Given the description of an element on the screen output the (x, y) to click on. 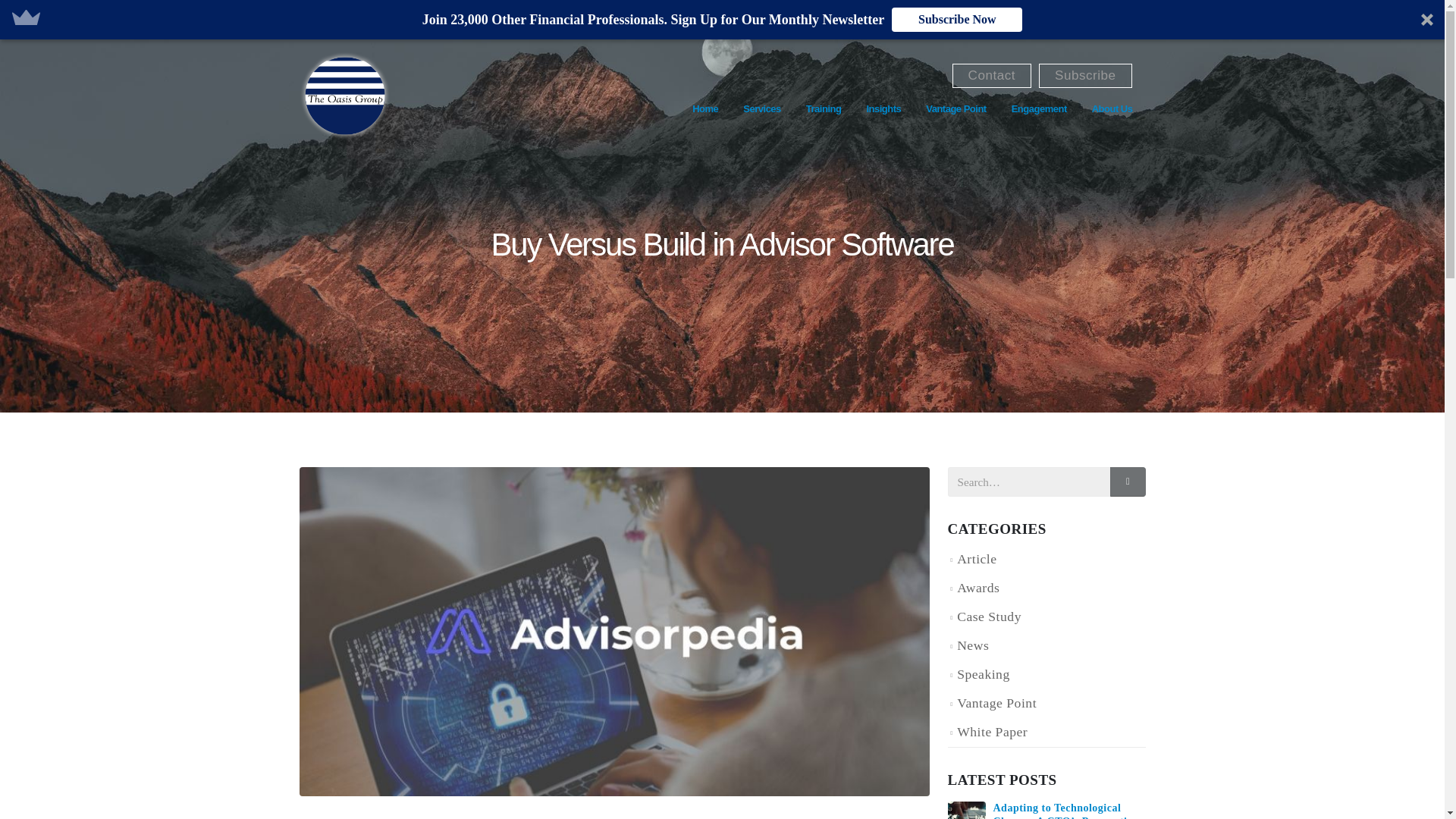
Subscribe Now (956, 19)
Home (704, 109)
Subscribe (1085, 75)
Services (761, 109)
Contact (991, 75)
Training (823, 109)
Insights (882, 109)
The Oasis Group -  (344, 95)
Vantage Point (955, 109)
Engagement (1038, 109)
About Us (1112, 109)
